Given the description of an element on the screen output the (x, y) to click on. 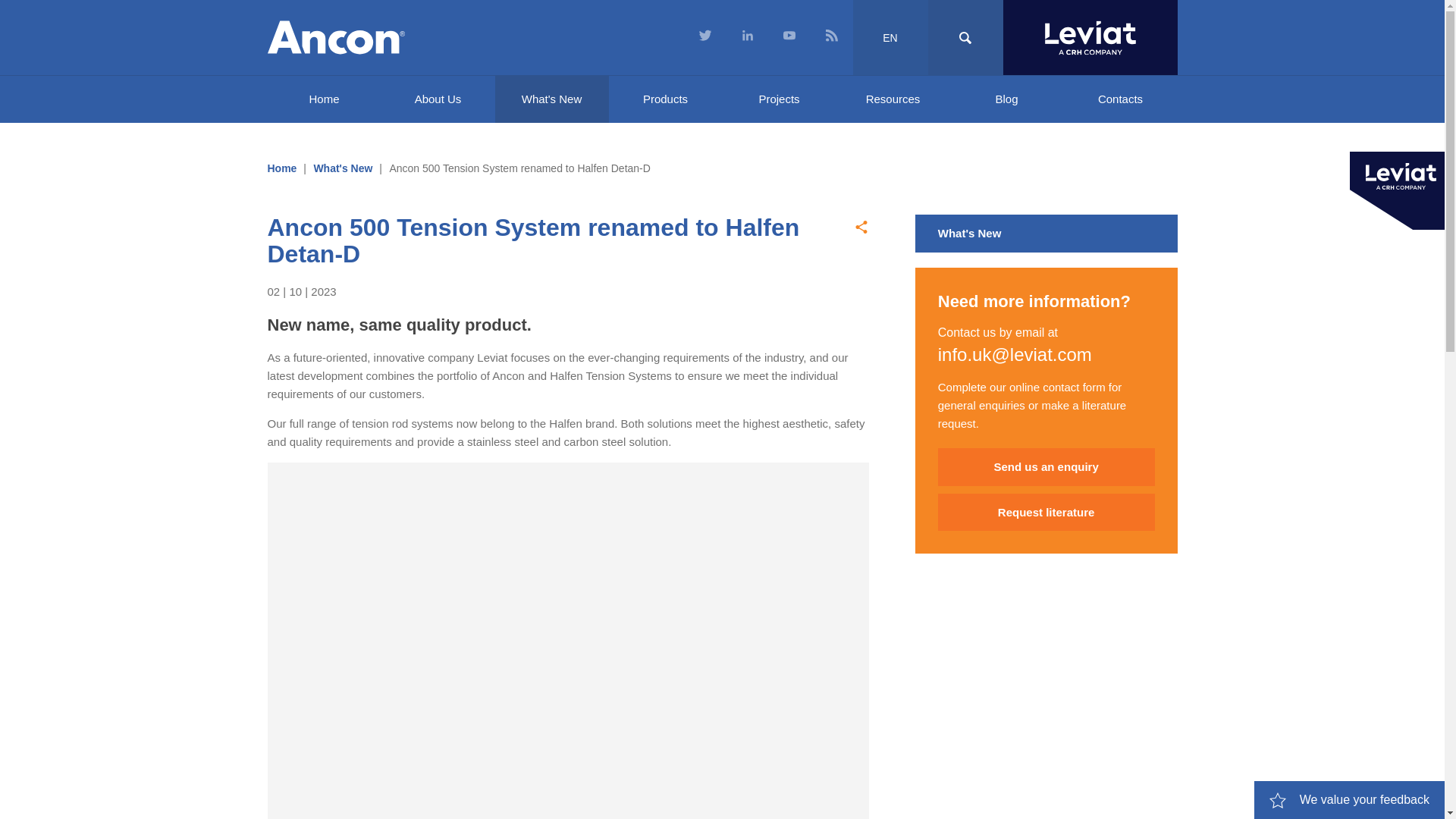
What's New (551, 99)
What's New (1046, 233)
EN (889, 37)
Home (281, 168)
Send us an enquiry (1045, 466)
Resources (892, 99)
What's New (342, 168)
Products (665, 99)
Blog (1005, 99)
Request literature (1045, 512)
Projects (778, 99)
Home (323, 99)
About Us (437, 99)
Contacts (1119, 99)
